Given the description of an element on the screen output the (x, y) to click on. 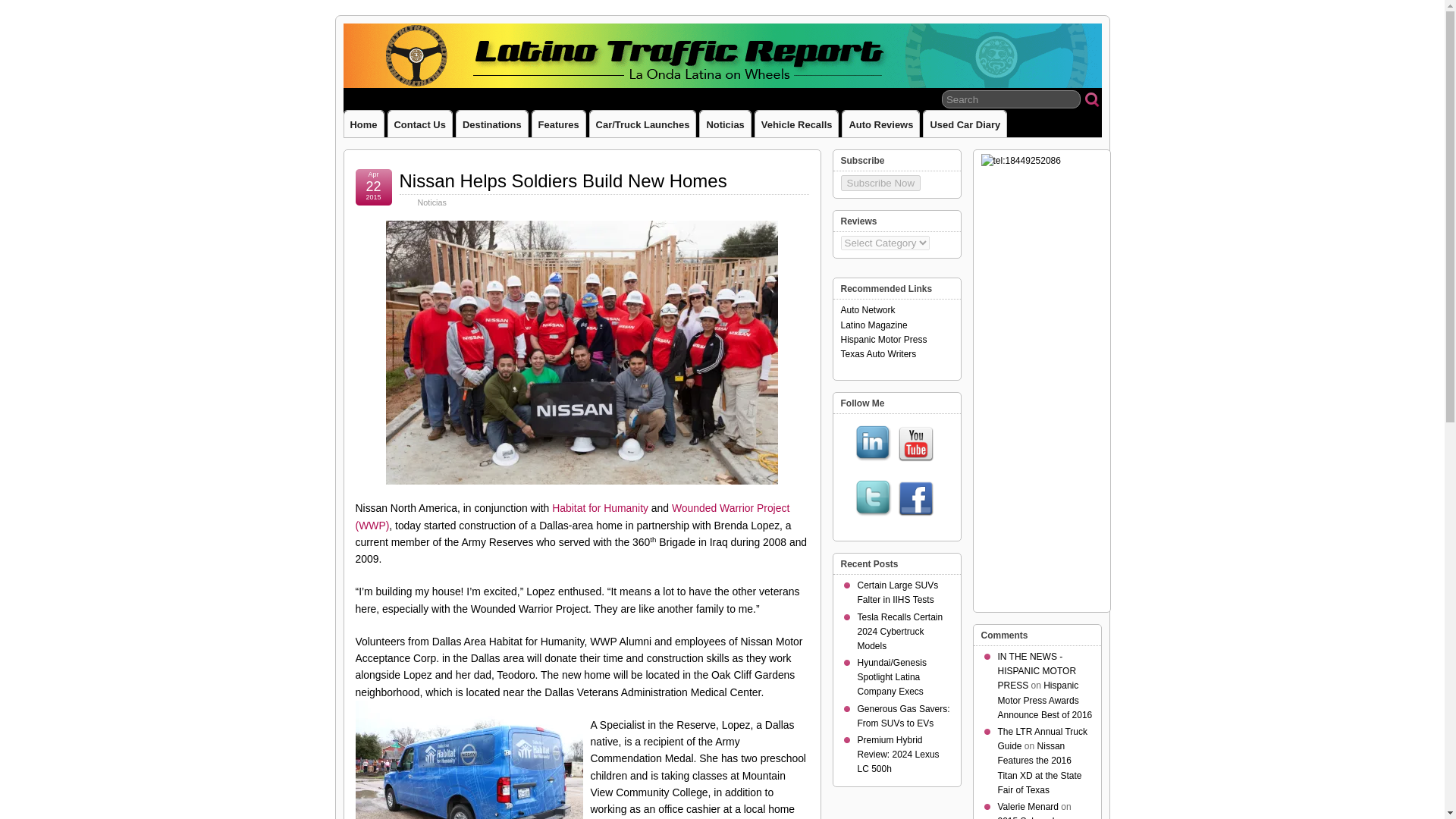
Destinations (492, 123)
Noticias (724, 123)
Used Car Diary (964, 123)
Facebook (916, 499)
Vehicle Recalls (796, 123)
Habitat for Humanity (599, 508)
Nissan Helps Soldiers Build New Homes (562, 180)
IN THE NEWS - HISPANIC MOTOR PRESS (1037, 671)
LinkedIn (873, 445)
Nissan Helps Soldiers Build New Homes (562, 180)
Contact Us (419, 123)
Valerie Menard (1027, 806)
Home (363, 123)
Twitter (873, 499)
Nissan Features the 2016 Titan XD at the State Fair of Texas (1039, 768)
